Given the description of an element on the screen output the (x, y) to click on. 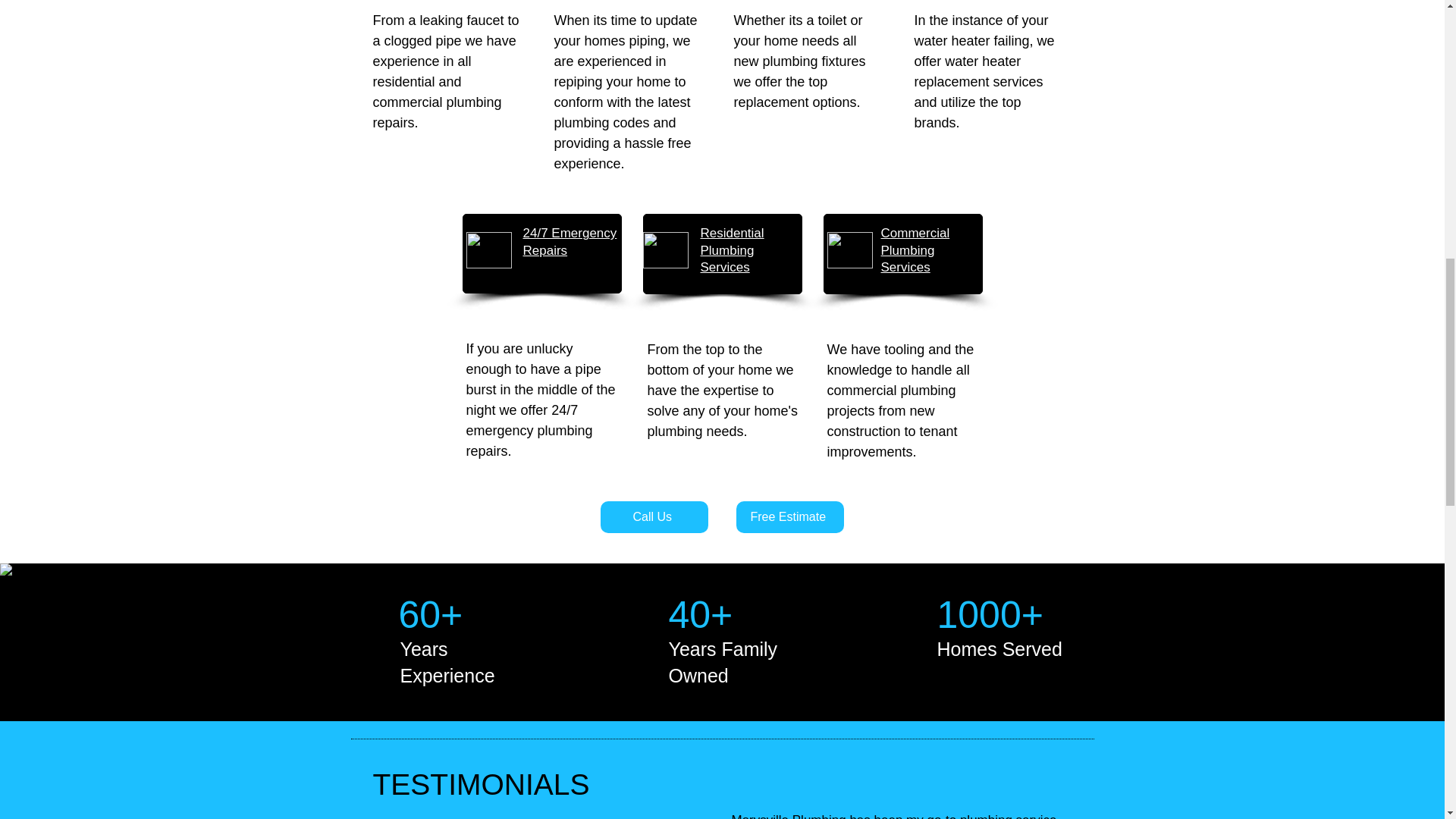
Free Estimate (789, 517)
Call Us (653, 517)
Residential Plumbing Services (732, 249)
Commercial Plumbing Services (915, 249)
